Given the description of an element on the screen output the (x, y) to click on. 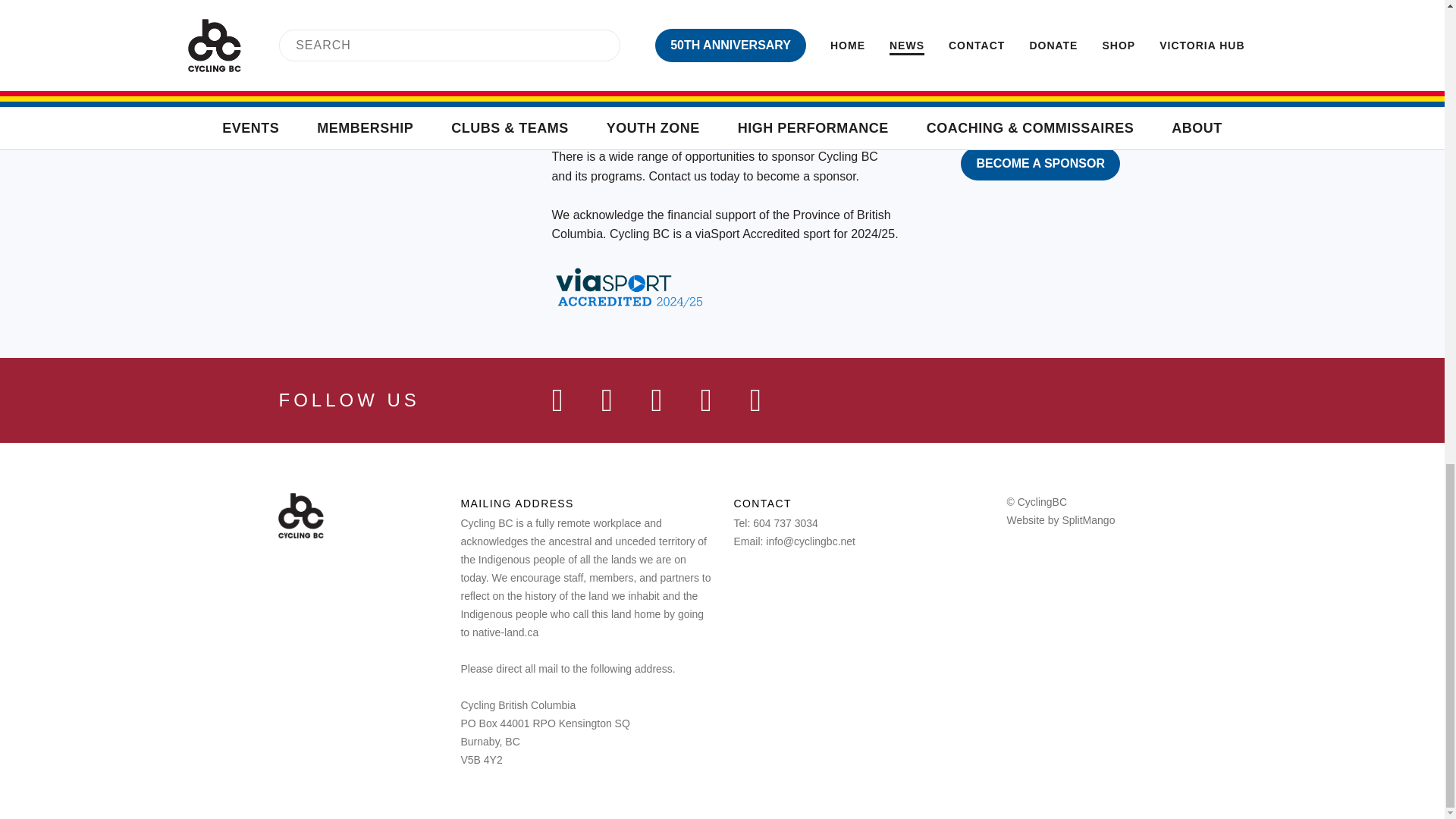
bc-logo (836, 71)
cbc-logo-2x (300, 515)
jakroo-logo (759, 3)
logo-viasport-min (609, 71)
cycling-canada-logo-long (742, 71)
Gallagher-Logo (898, 9)
BCCC-short-logo-2020-web (947, 71)
Interpodia logo (1037, 7)
